Given the description of an element on the screen output the (x, y) to click on. 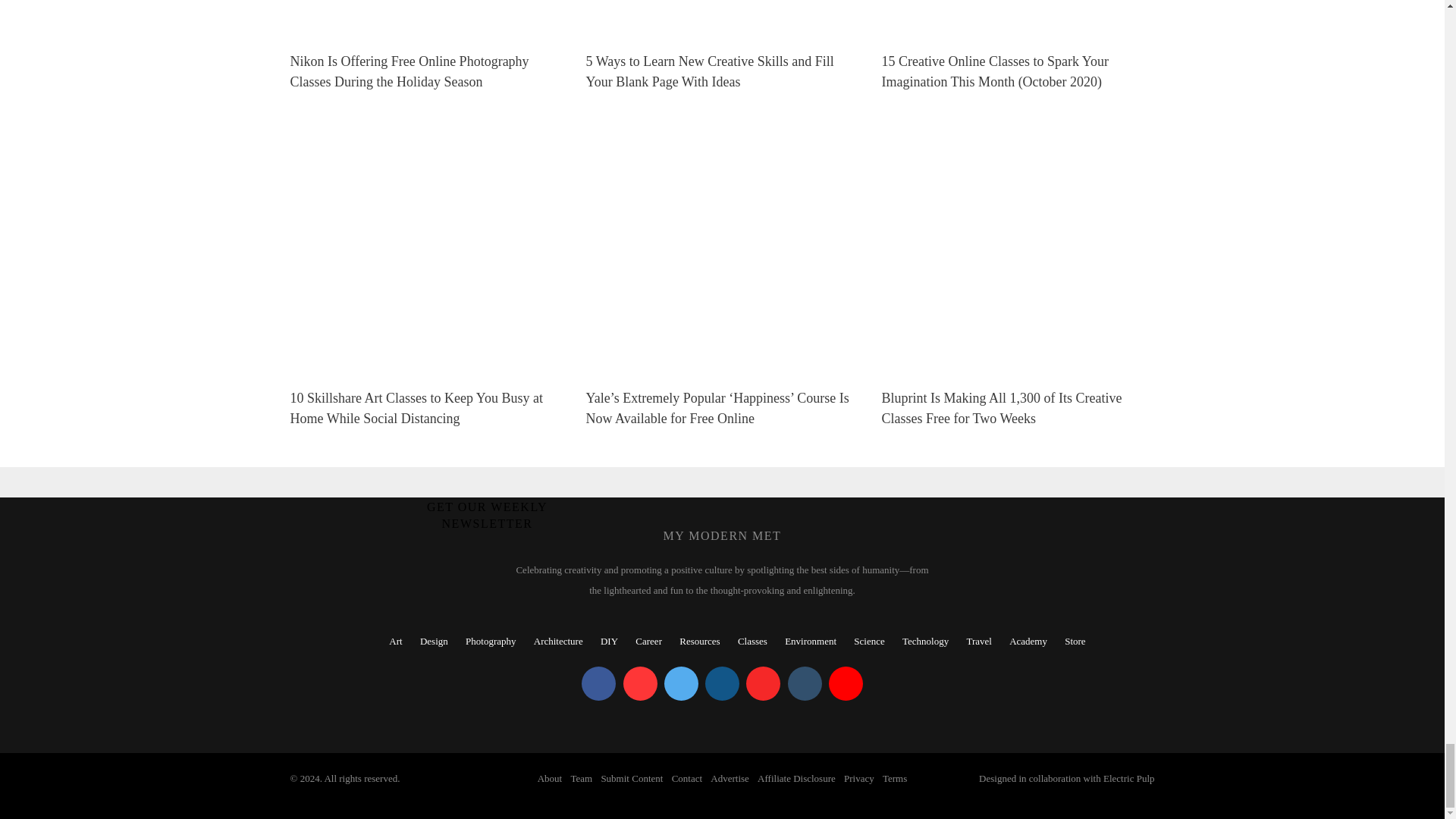
My Modern Met on Facebook (597, 683)
My Modern Met on Instagram (721, 683)
My Modern Met on Twitter (680, 683)
My Modern Met on Tumblr (804, 683)
My Modern Met on Pinterest (640, 683)
My Modern Met on YouTube (845, 683)
